Given the description of an element on the screen output the (x, y) to click on. 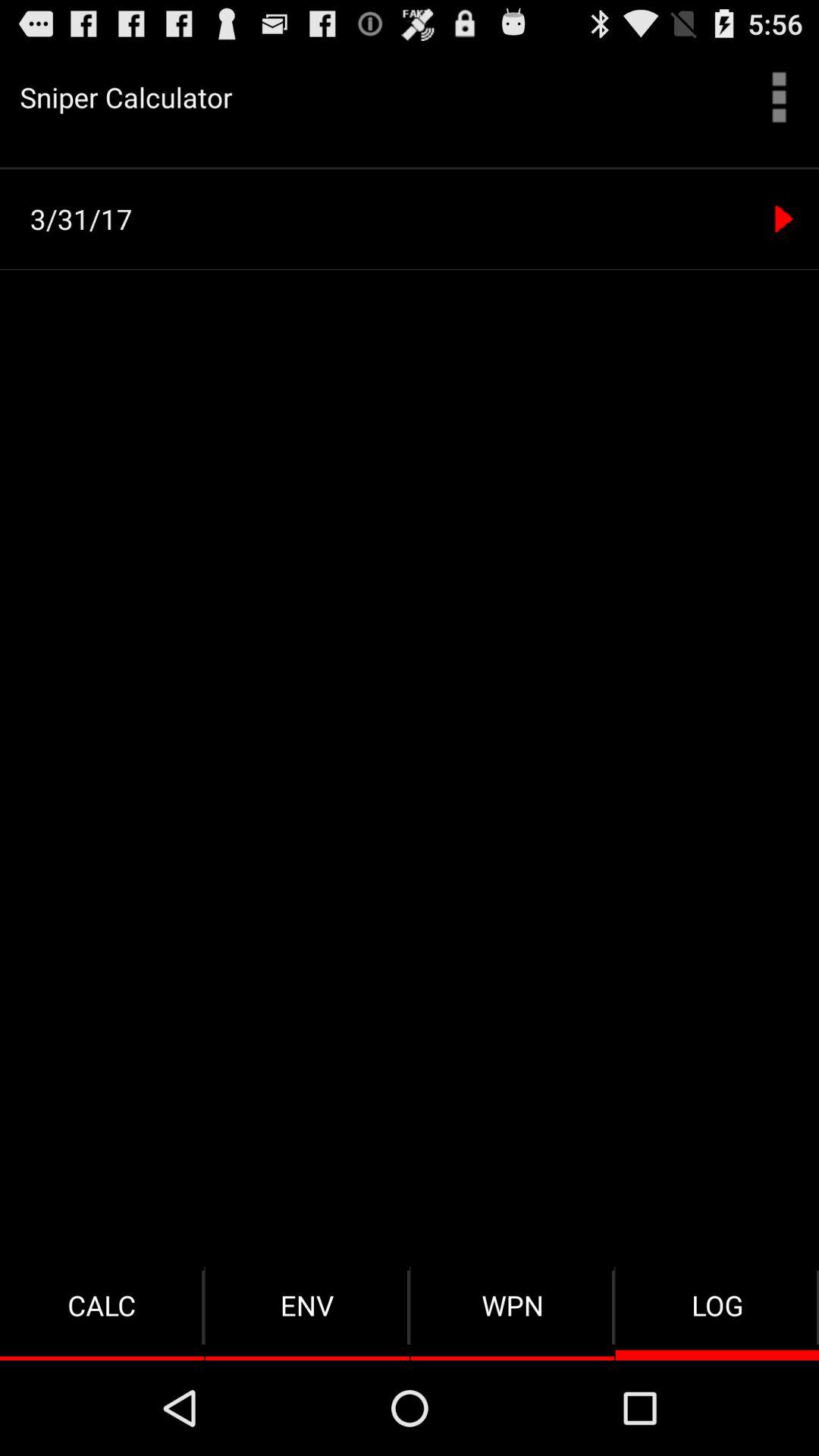
select item to the right of the sniper calculator item (779, 97)
